Given the description of an element on the screen output the (x, y) to click on. 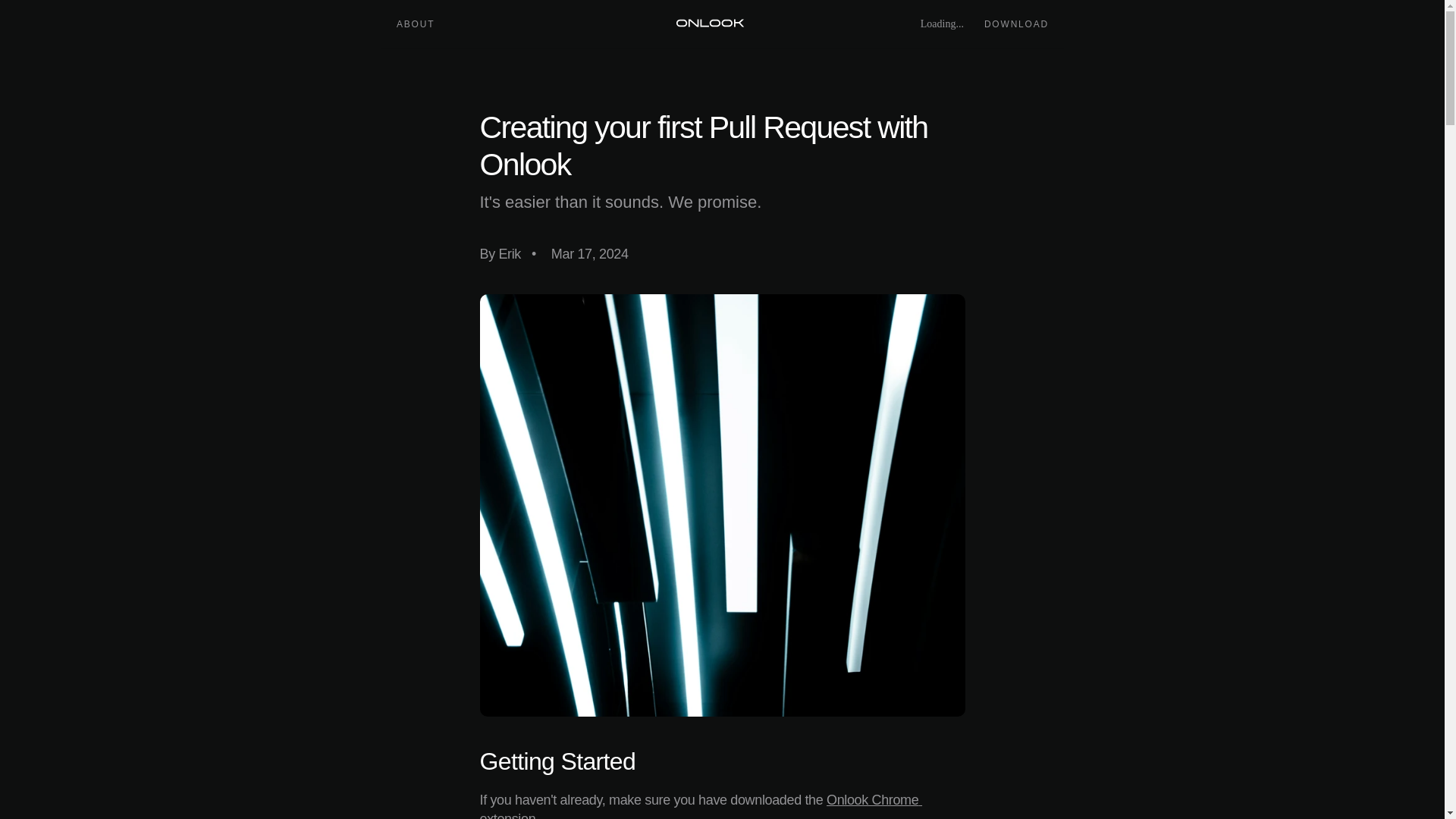
Onlook Chrome extension (700, 805)
DOWNLOAD (1016, 24)
ABOUT (414, 24)
Loading... (933, 23)
